Given the description of an element on the screen output the (x, y) to click on. 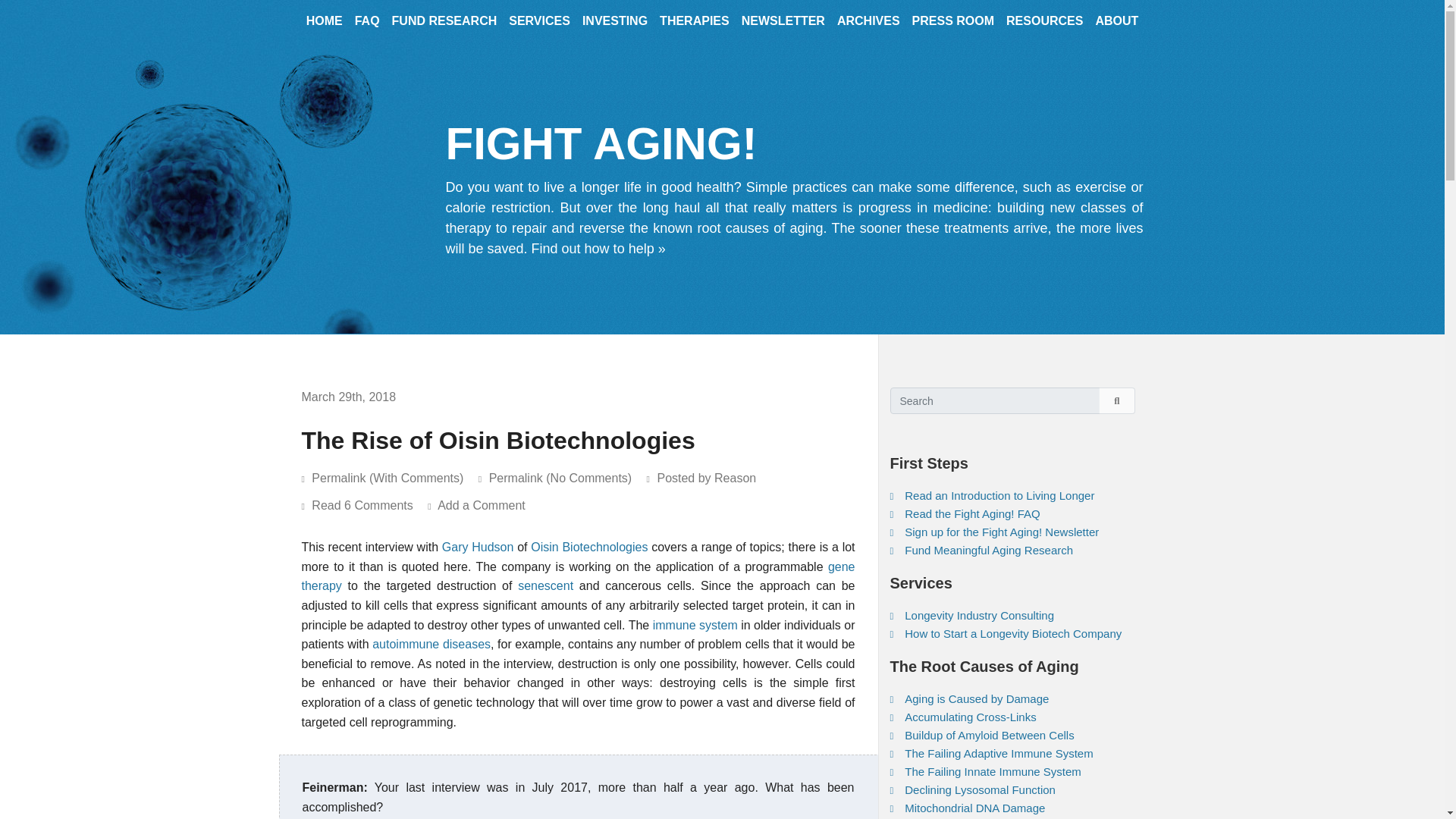
Read 6 Comments (369, 504)
gene therapy (578, 576)
autoimmune diseases (431, 644)
Add a Comment (487, 504)
NEWSLETTER (783, 26)
PRESS ROOM (952, 26)
Oisin Biotechnologies (589, 546)
HOME (324, 26)
THERAPIES (694, 26)
FUND RESEARCH (444, 26)
